Given the description of an element on the screen output the (x, y) to click on. 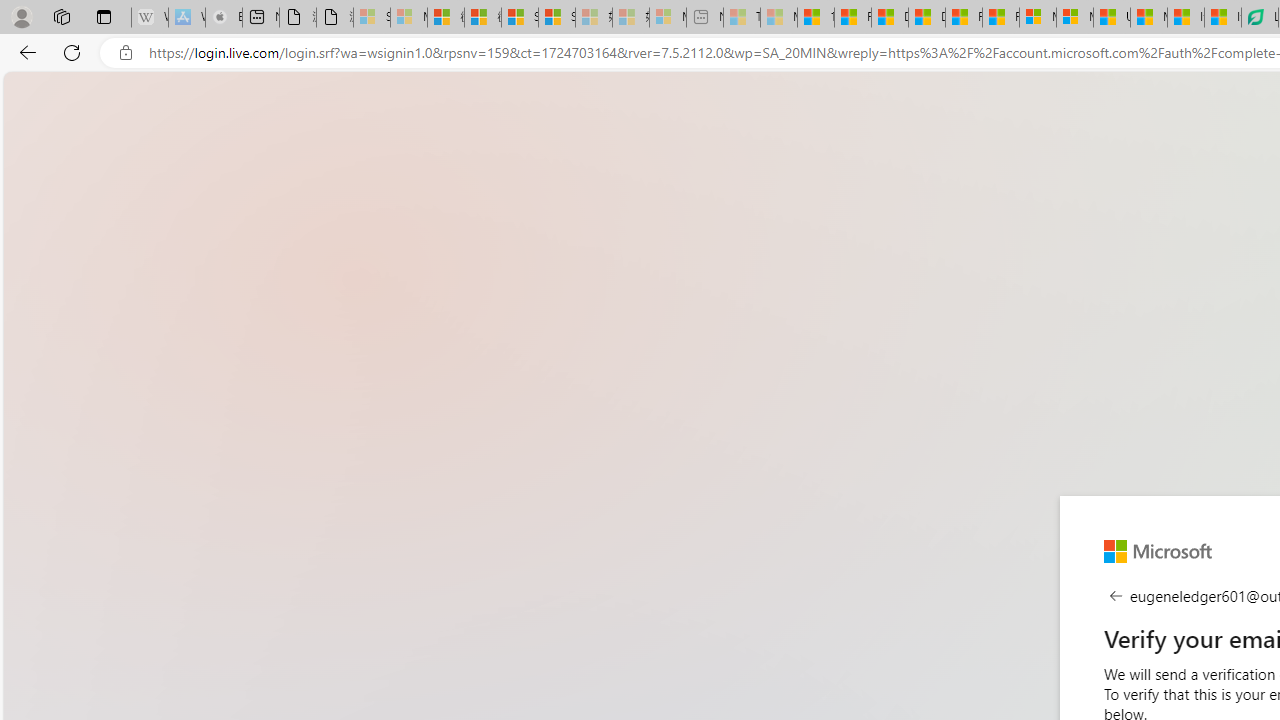
Drinking tea every day is proven to delay biological aging (926, 17)
Buy iPad - Apple - Sleeping (223, 17)
Marine life - MSN - Sleeping (779, 17)
Microsoft account | Account Checkup - Sleeping (668, 17)
